Given the description of an element on the screen output the (x, y) to click on. 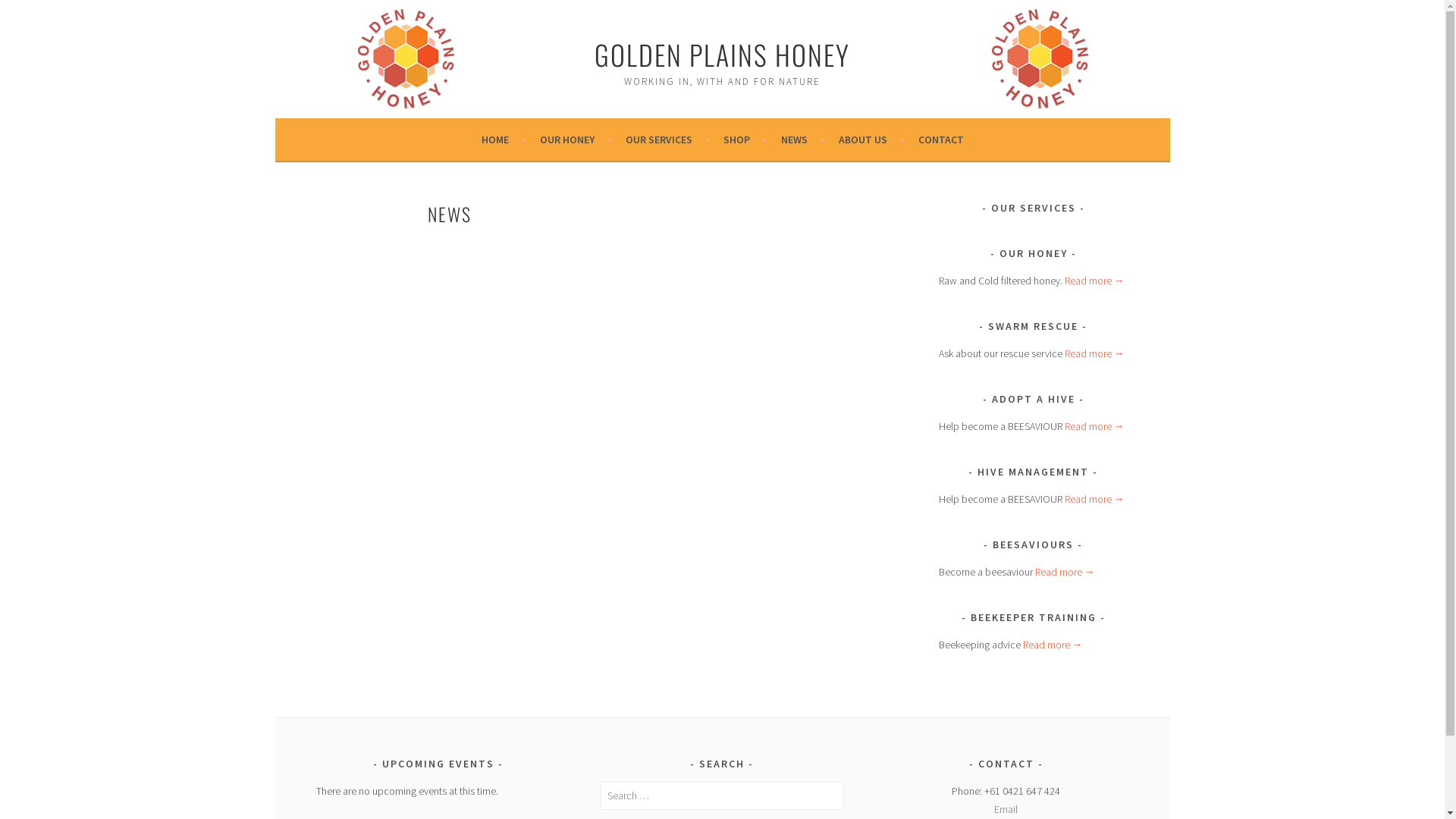
Search Element type: text (27, 13)
OUR SERVICES Element type: text (666, 139)
Skip to content Element type: text (274, 0)
Email Element type: text (1005, 808)
GOLDEN PLAINS HONEY Element type: text (722, 54)
ABOUT US Element type: text (870, 139)
OUR HONEY Element type: text (575, 139)
NEWS Element type: text (802, 139)
HOME Element type: text (502, 139)
SHOP Element type: text (744, 139)
CONTACT Element type: text (940, 139)
